Given the description of an element on the screen output the (x, y) to click on. 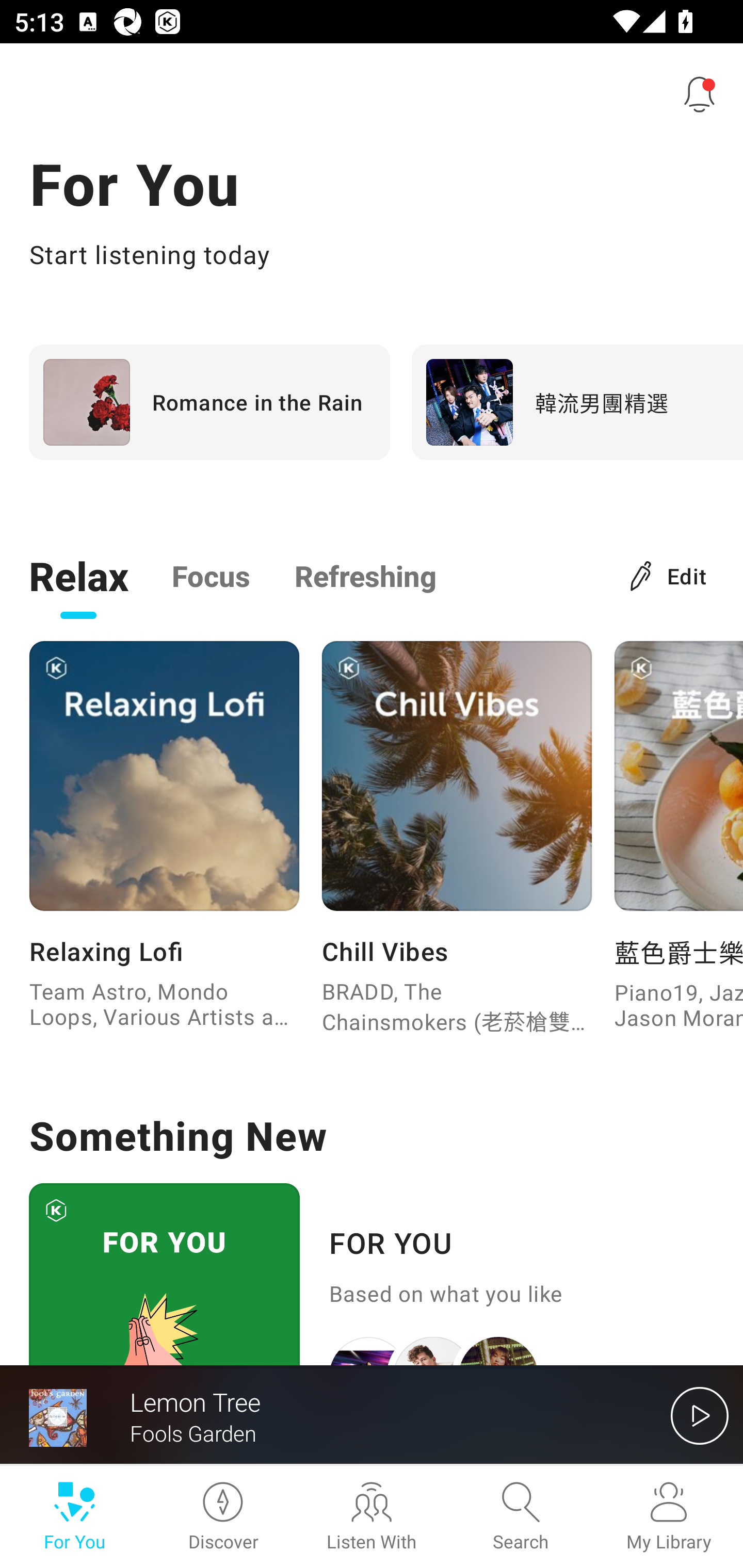
Notification (699, 93)
view_image Romance in the Rain (209, 401)
view_image 韓流男團精選 (577, 401)
Focus (211, 575)
Refreshing (365, 575)
Edit (668, 575)
開始播放 (699, 1415)
For You (74, 1517)
Discover (222, 1517)
Listen With (371, 1517)
Search (519, 1517)
My Library (668, 1517)
